Given the description of an element on the screen output the (x, y) to click on. 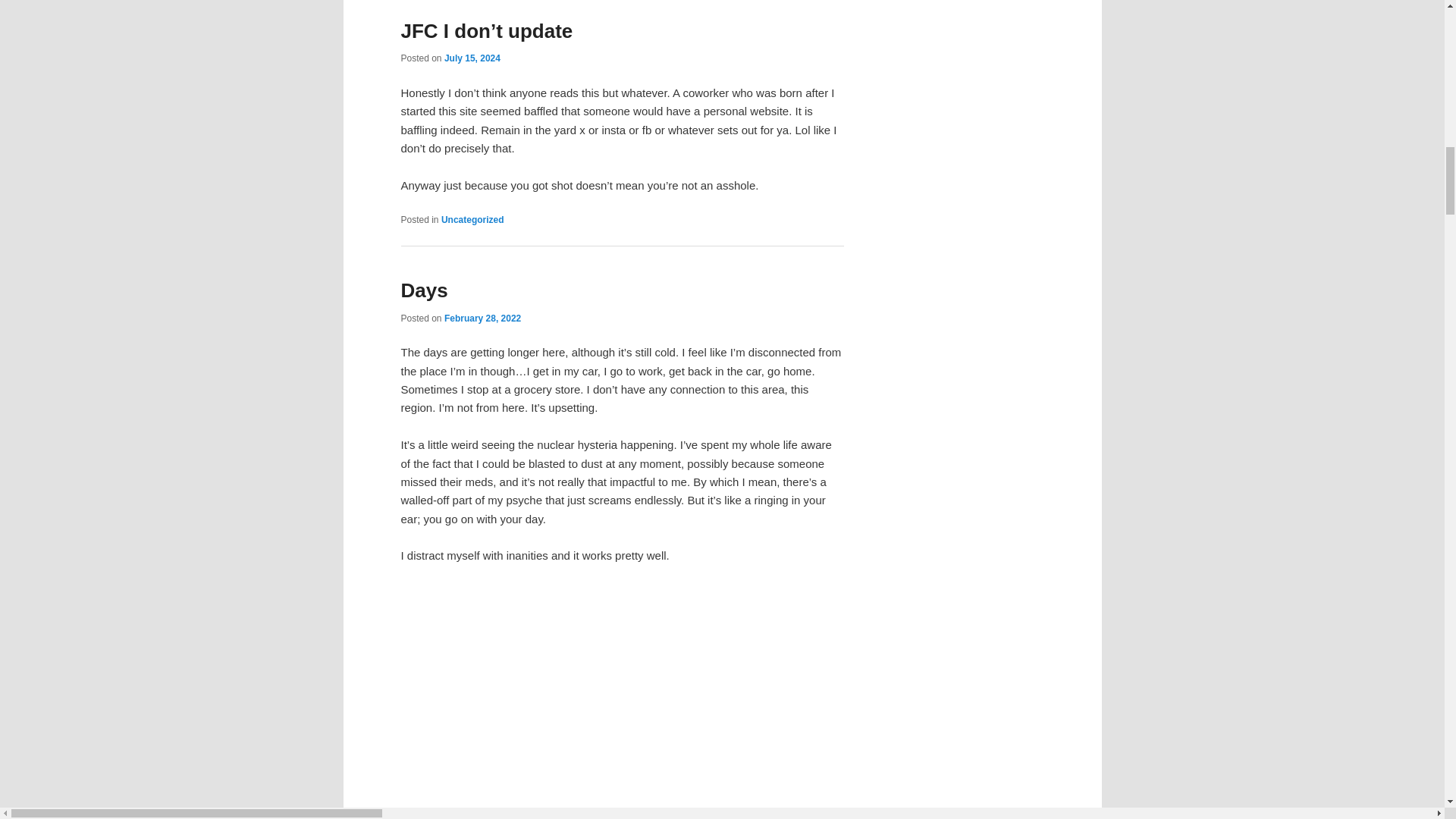
Days (423, 290)
4:29 pm (482, 317)
4:45 pm (472, 58)
Uncategorized (472, 219)
July 15, 2024 (472, 58)
February 28, 2022 (482, 317)
An Entire Fish Sausage (621, 701)
